Given the description of an element on the screen output the (x, y) to click on. 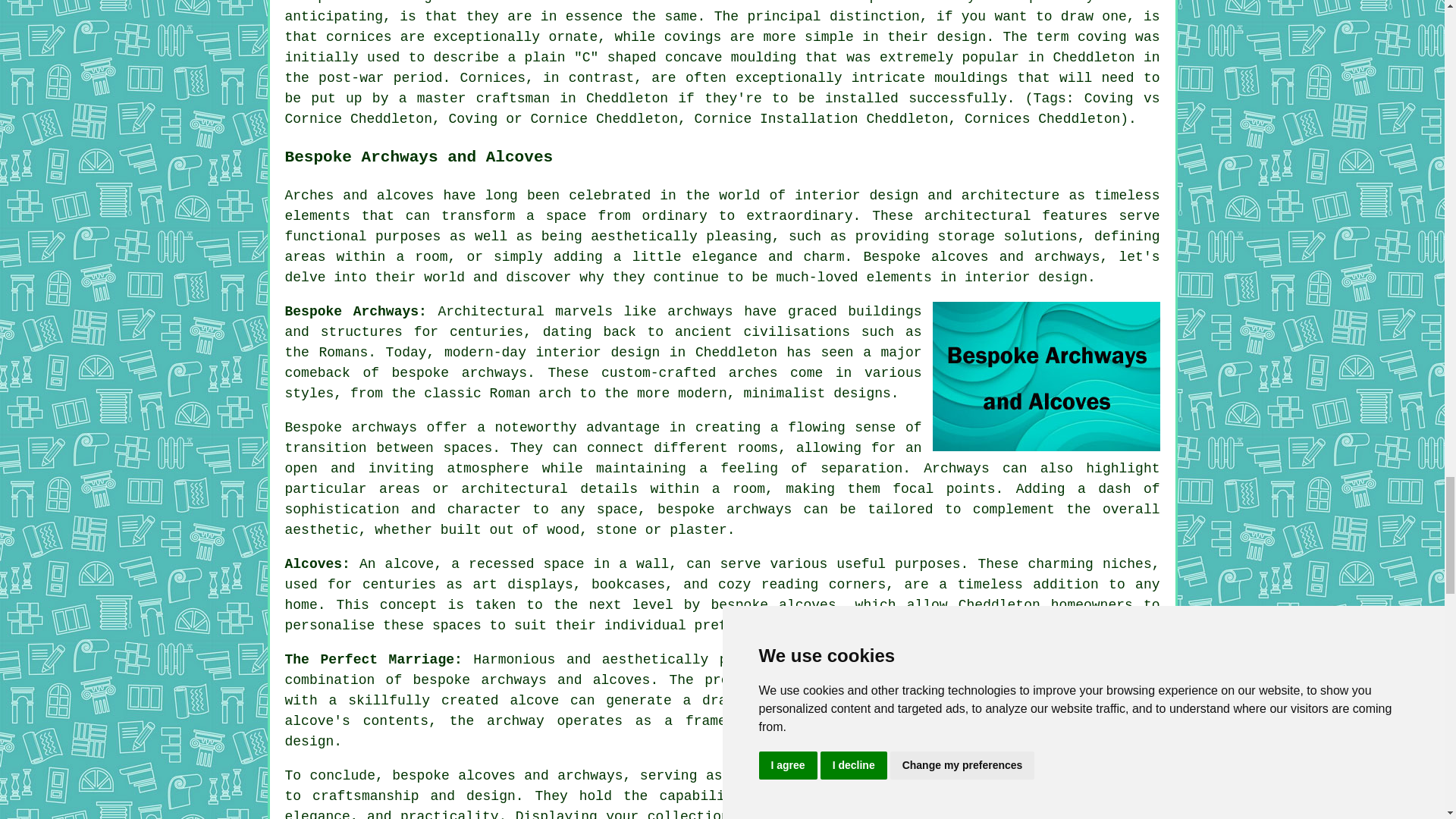
alcoves (806, 604)
architectural (908, 775)
Archways (955, 468)
Bespoke Archways and Alcoves Cheddleton (1046, 376)
